Given the description of an element on the screen output the (x, y) to click on. 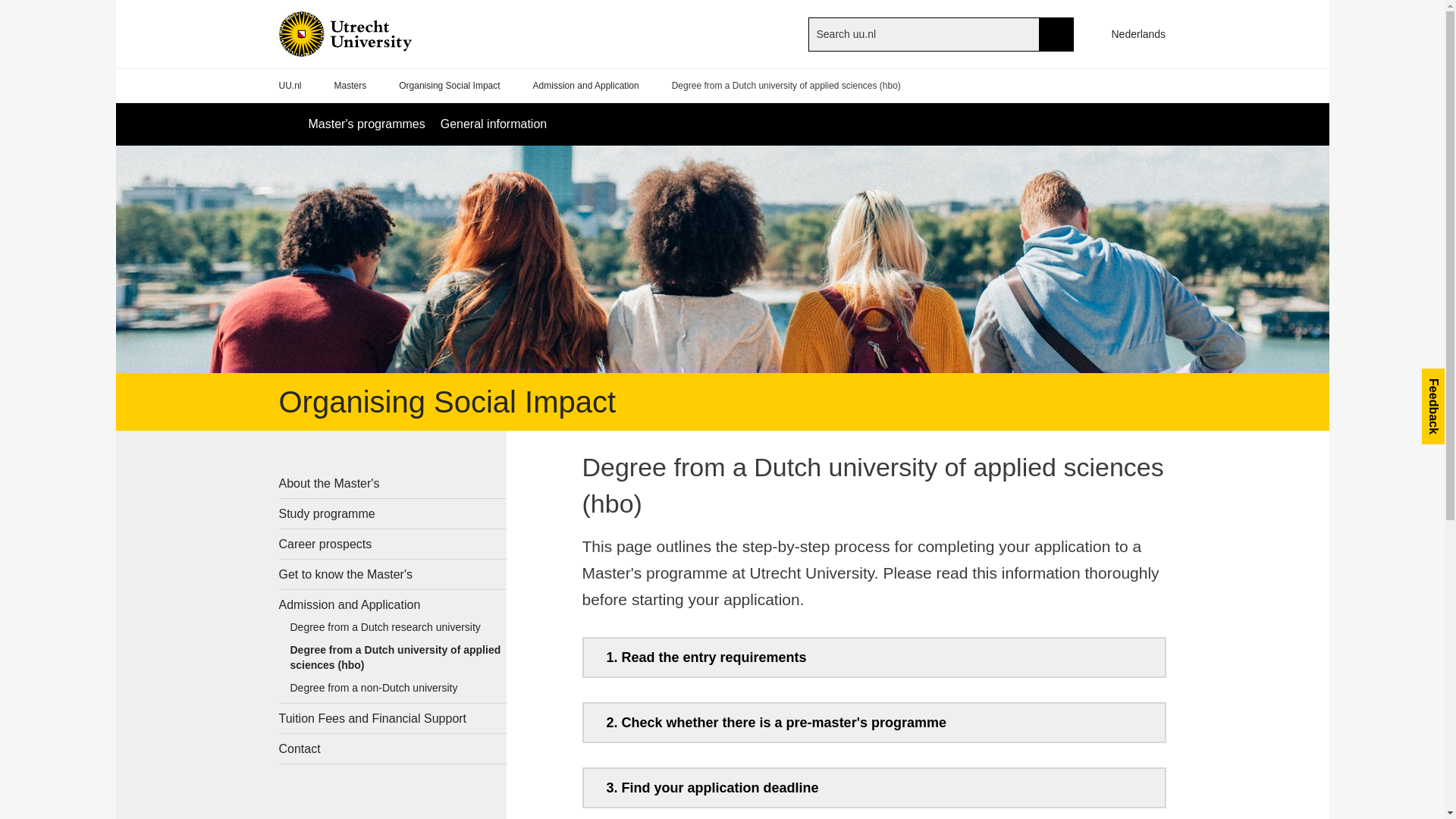
Contact (392, 748)
Degree from a non-Dutch university (392, 691)
3. Find your application deadline (873, 787)
Home (370, 33)
Master's programmes (365, 124)
Admission and Application (585, 85)
Organising Social Impact (448, 85)
Organising Social Impact (447, 401)
About the Master's (392, 482)
Career prospects (392, 543)
